Given the description of an element on the screen output the (x, y) to click on. 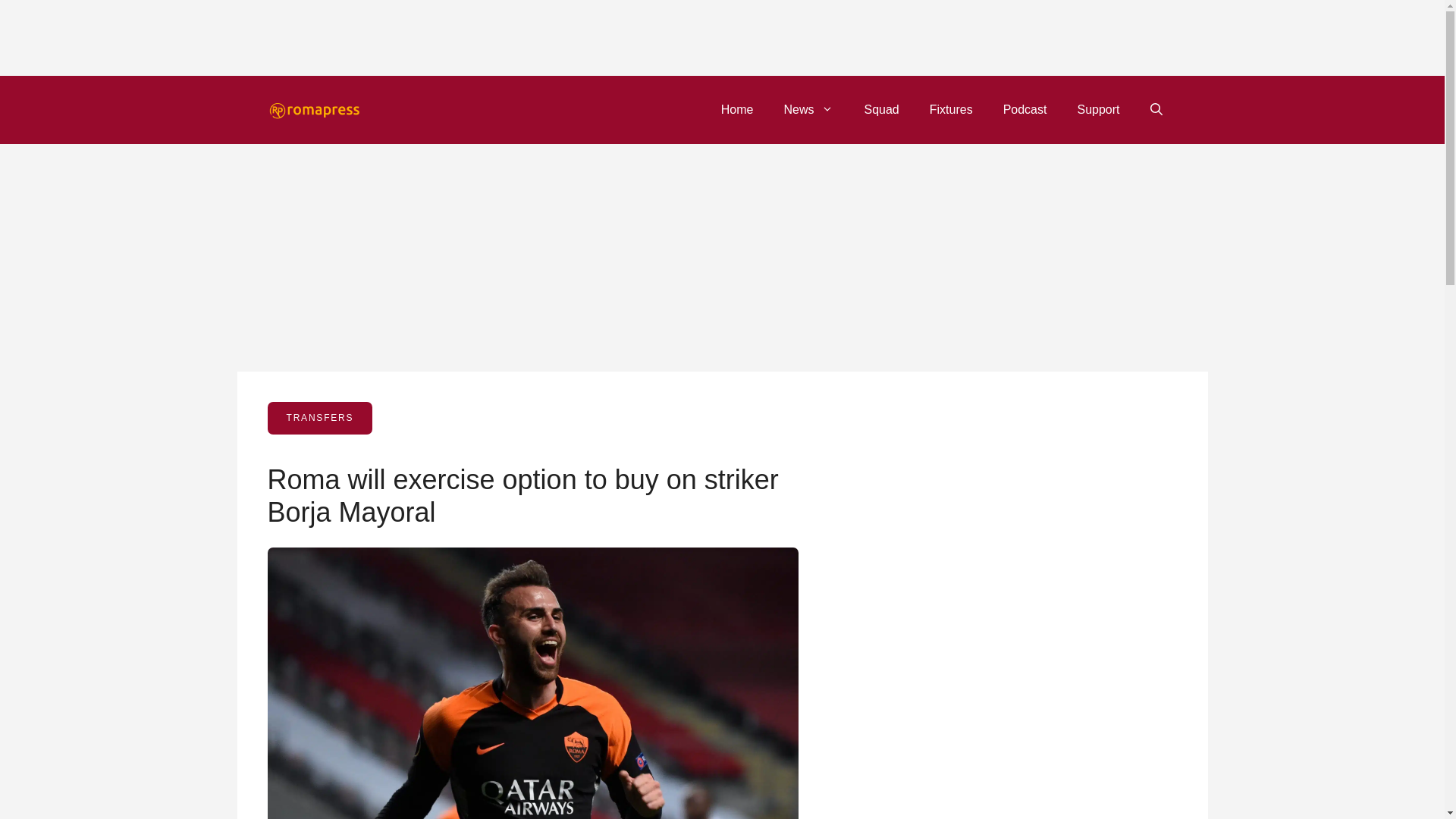
Support (1097, 109)
Home (737, 109)
Fixtures (951, 109)
Podcast (1025, 109)
Squad (881, 109)
News (808, 109)
